Given the description of an element on the screen output the (x, y) to click on. 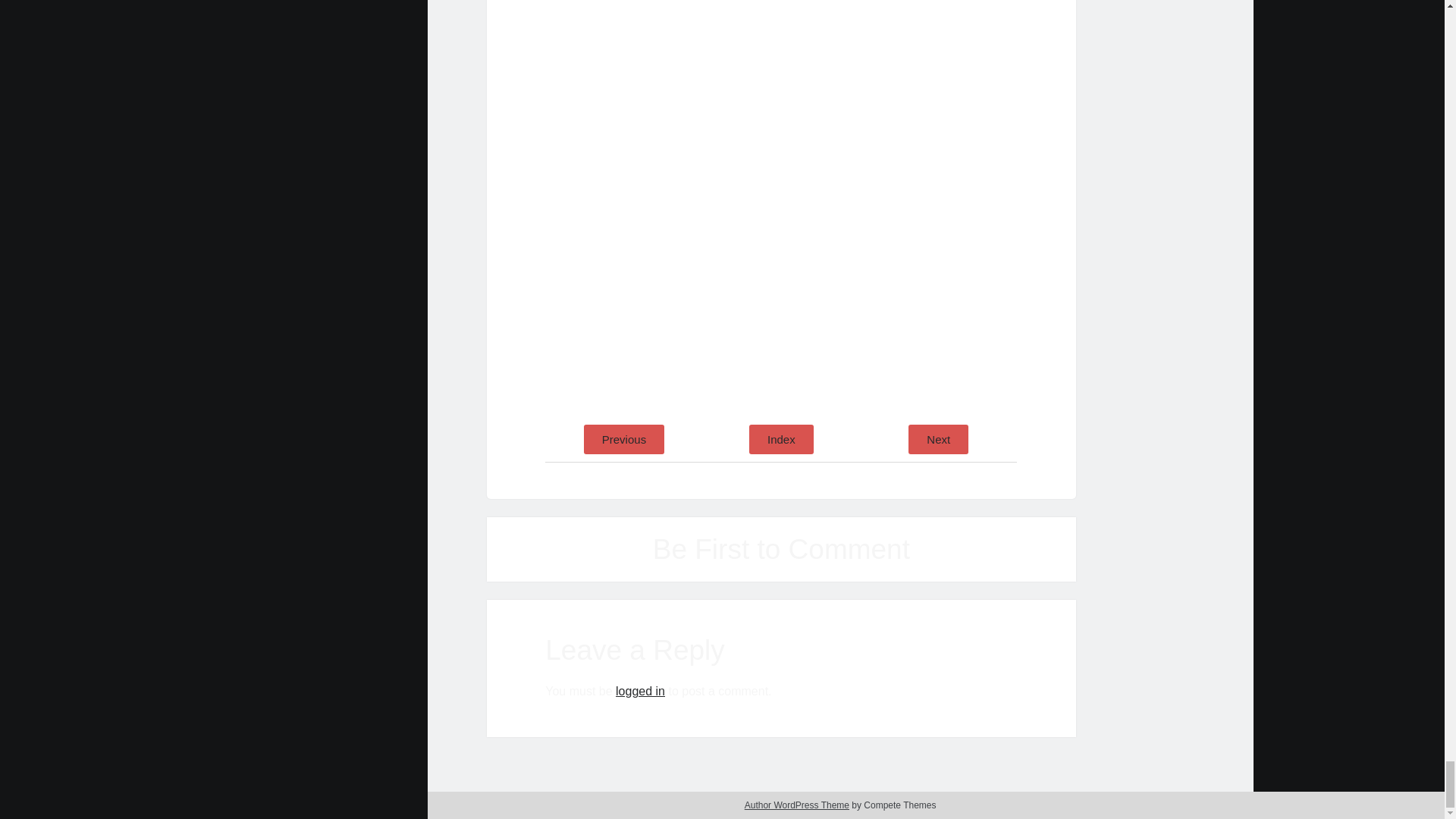
Author WordPress Theme (796, 805)
logged in (640, 690)
Previous (623, 439)
Index (781, 439)
Next (938, 439)
